Given the description of an element on the screen output the (x, y) to click on. 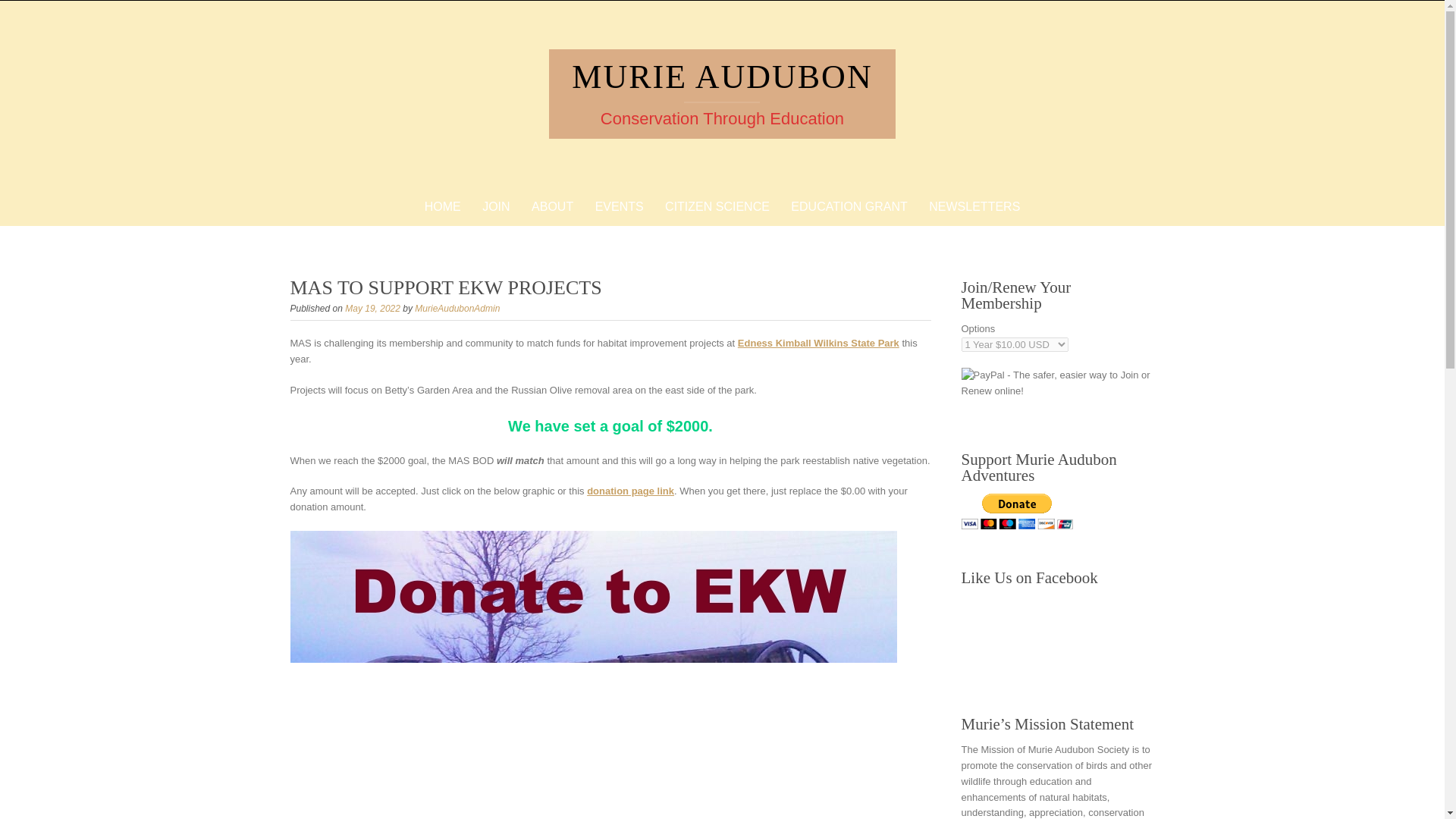
HOME (442, 206)
ABOUT (552, 206)
Murie Audubon Conservation Through Education (722, 76)
MURIE AUDUBON (722, 76)
donation page link (630, 490)
EDUCATION GRANT (848, 206)
Edness Kimball Wilkins State Park (818, 342)
CITIZEN SCIENCE (717, 206)
NEWSLETTERS (974, 206)
